Given the description of an element on the screen output the (x, y) to click on. 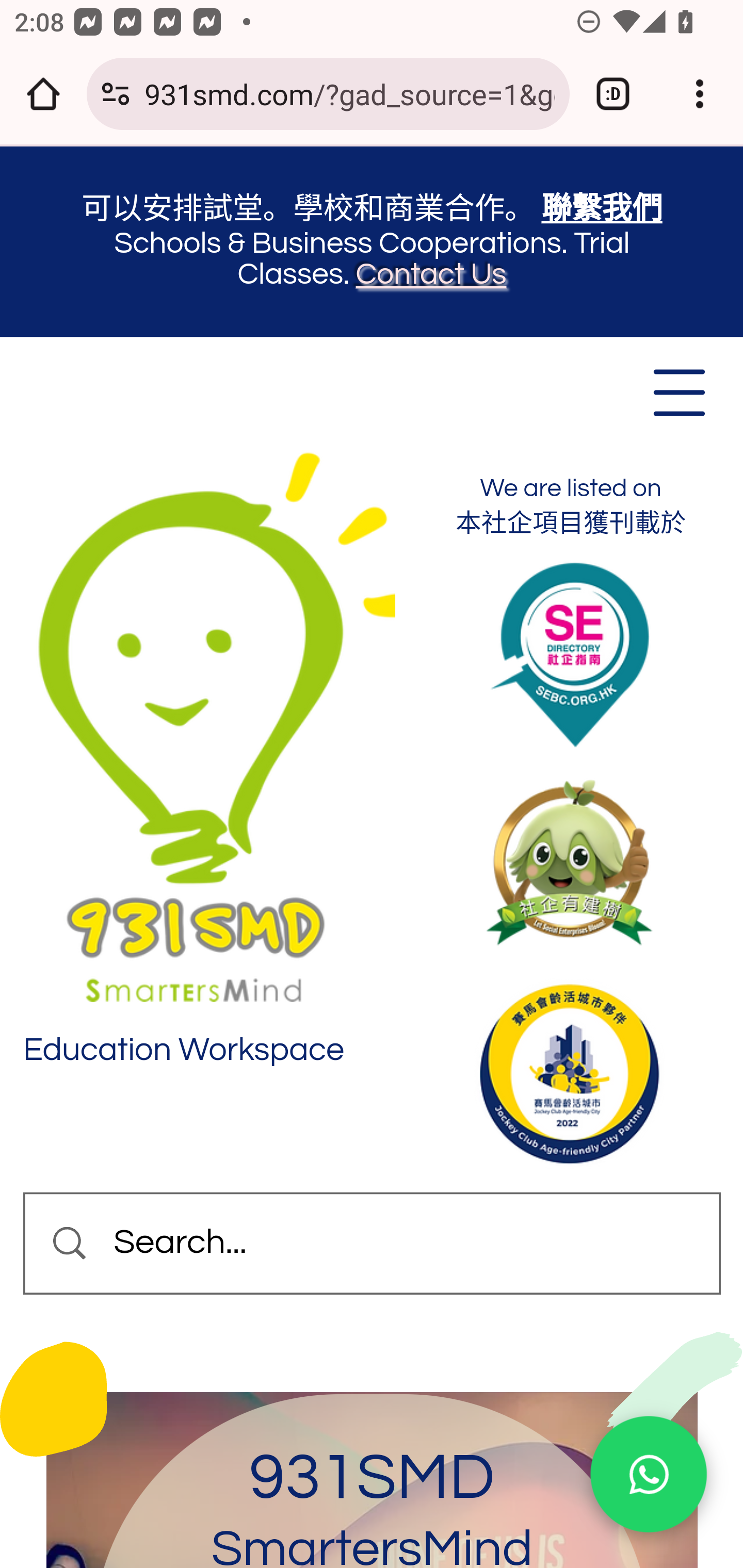
Open the home page (43, 93)
Connection is secure (115, 93)
Switch or close tabs (612, 93)
Customize and control Google Chrome (699, 93)
聯繫我們 (601, 208)
Contact Us (430, 273)
Open navigation menu (678, 391)
SMD Logo transparent.png (209, 724)
SE Directory Logo Final_RGB.png (569, 654)
Social Enterprise Logo.png (569, 862)
Education Workspace (184, 1050)
WhatsApp (647, 1474)
